Given the description of an element on the screen output the (x, y) to click on. 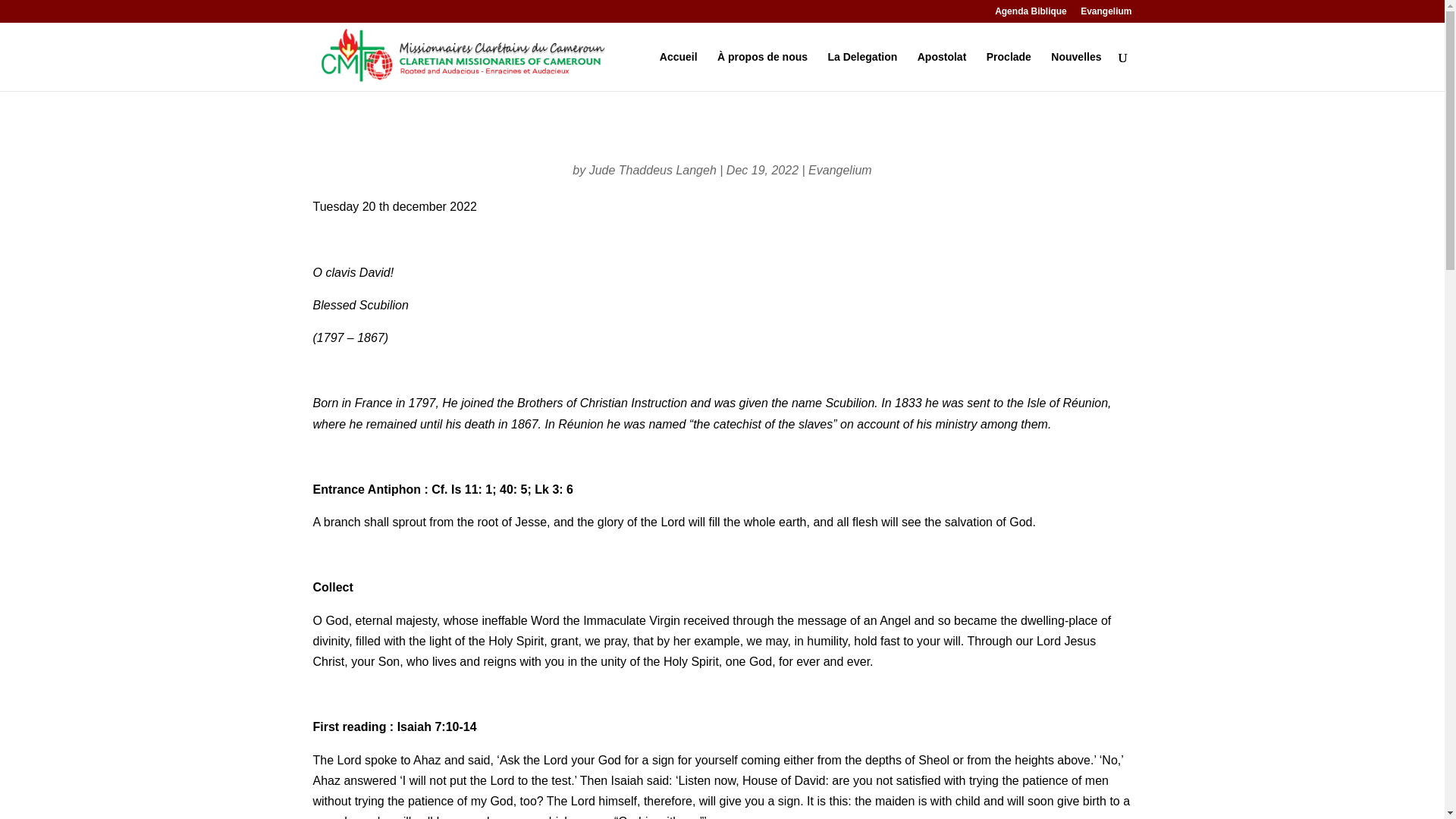
Apostolat (941, 70)
La Delegation (863, 70)
Jude Thaddeus Langeh (652, 169)
Posts by Jude Thaddeus Langeh (652, 169)
Proclade (1008, 70)
Nouvelles (1075, 70)
Evangelium (1105, 14)
Agenda Biblique (1030, 14)
Evangelium (840, 169)
Accueil (678, 70)
